Given the description of an element on the screen output the (x, y) to click on. 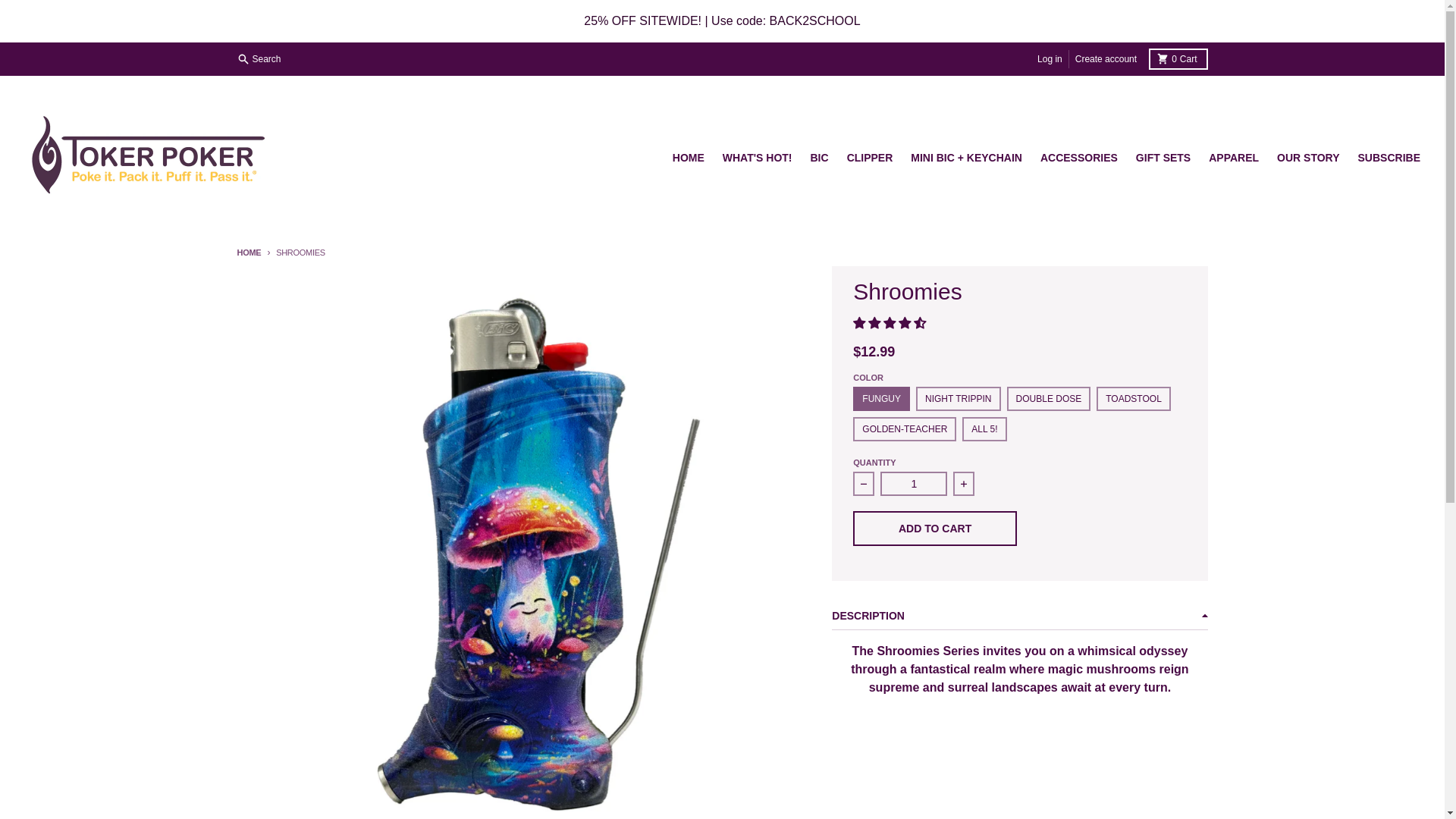
Search (259, 58)
APPAREL (1233, 157)
BIC (818, 157)
Log in (1049, 58)
HOME (247, 252)
ACCESSORIES (1078, 157)
